Given the description of an element on the screen output the (x, y) to click on. 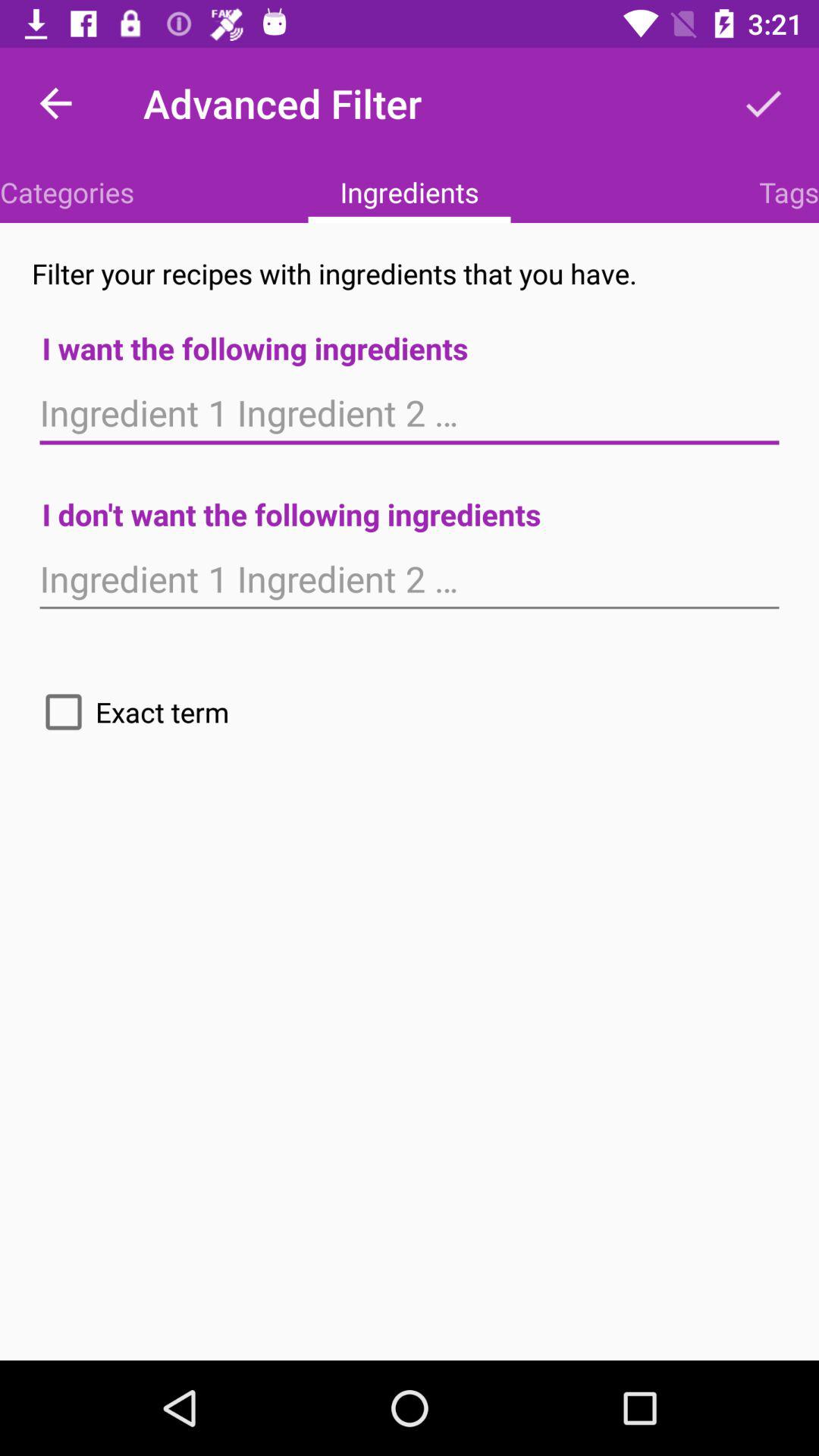
press item next to the advanced filter (763, 103)
